Given the description of an element on the screen output the (x, y) to click on. 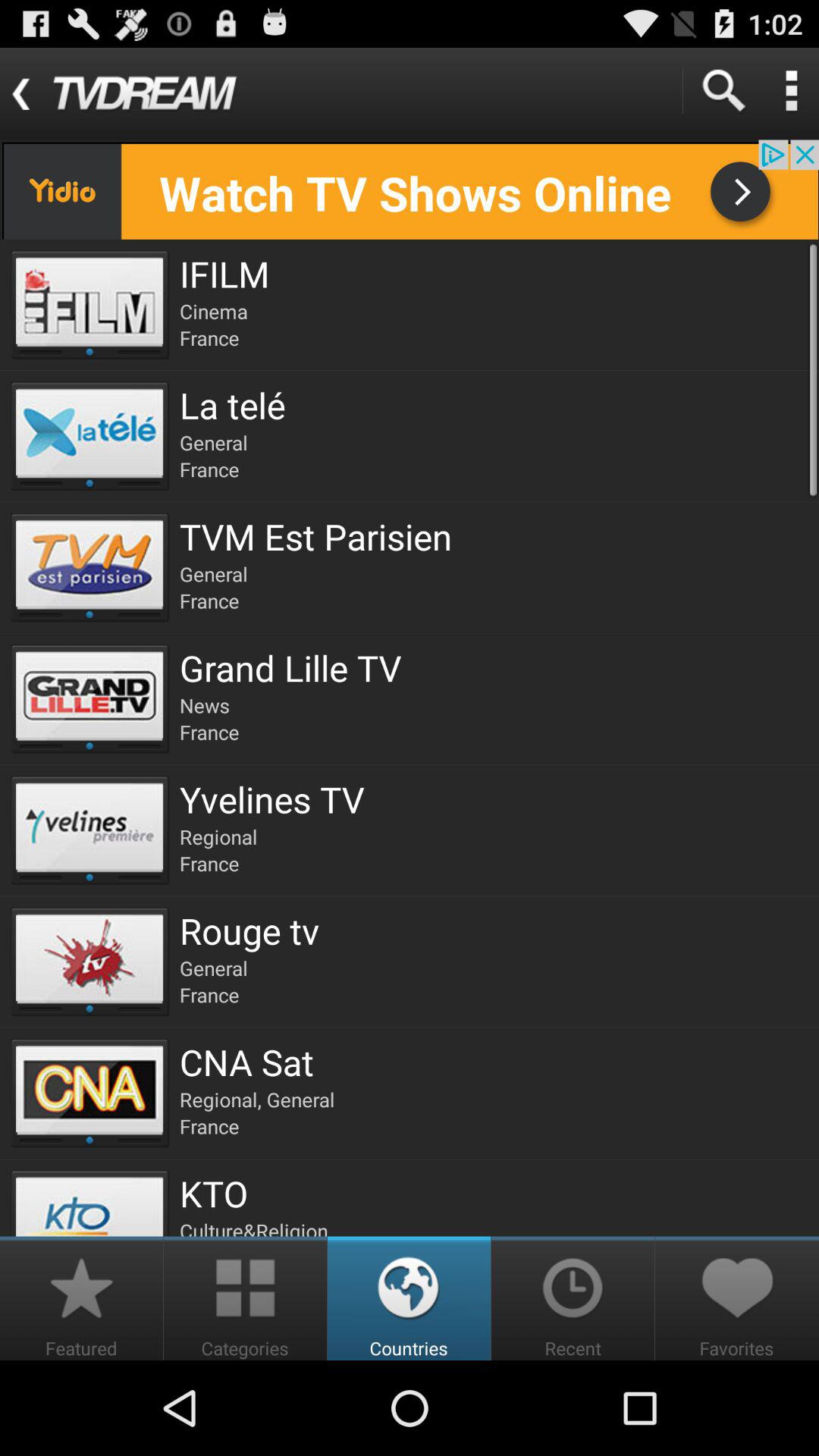
open the menu (791, 90)
